Given the description of an element on the screen output the (x, y) to click on. 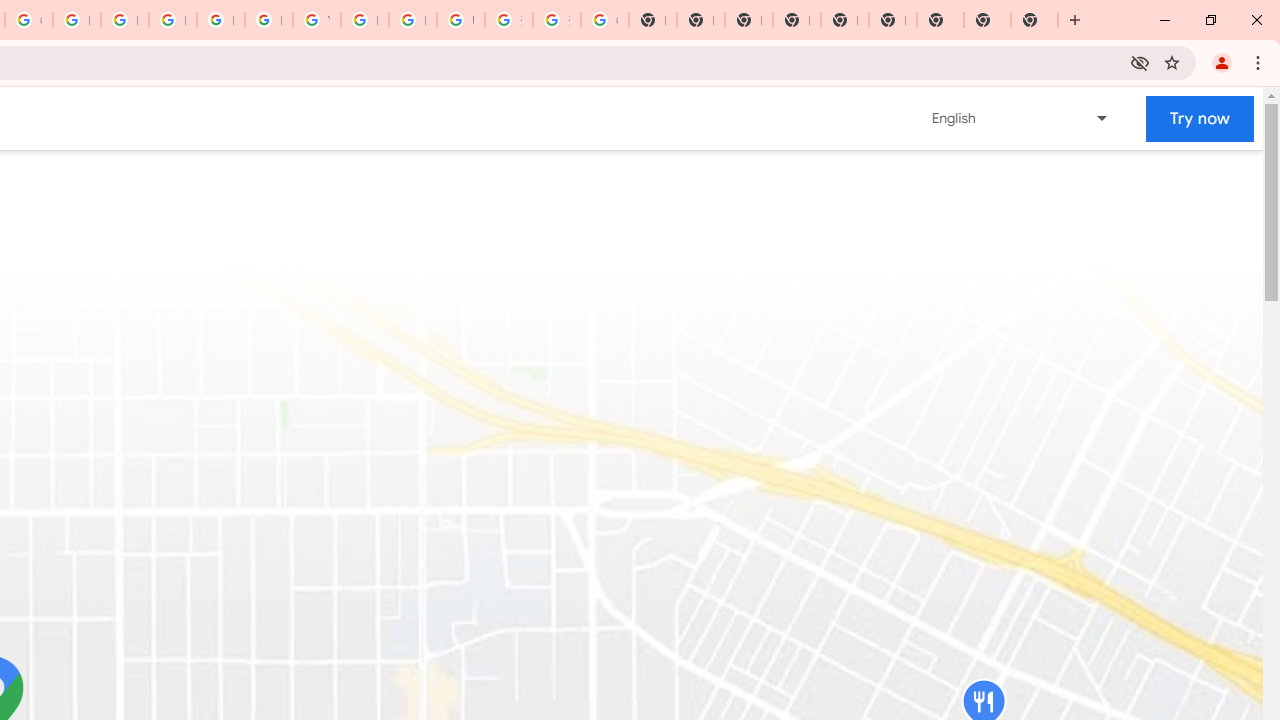
Change language or region (1021, 117)
Google Images (604, 20)
